Given the description of an element on the screen output the (x, y) to click on. 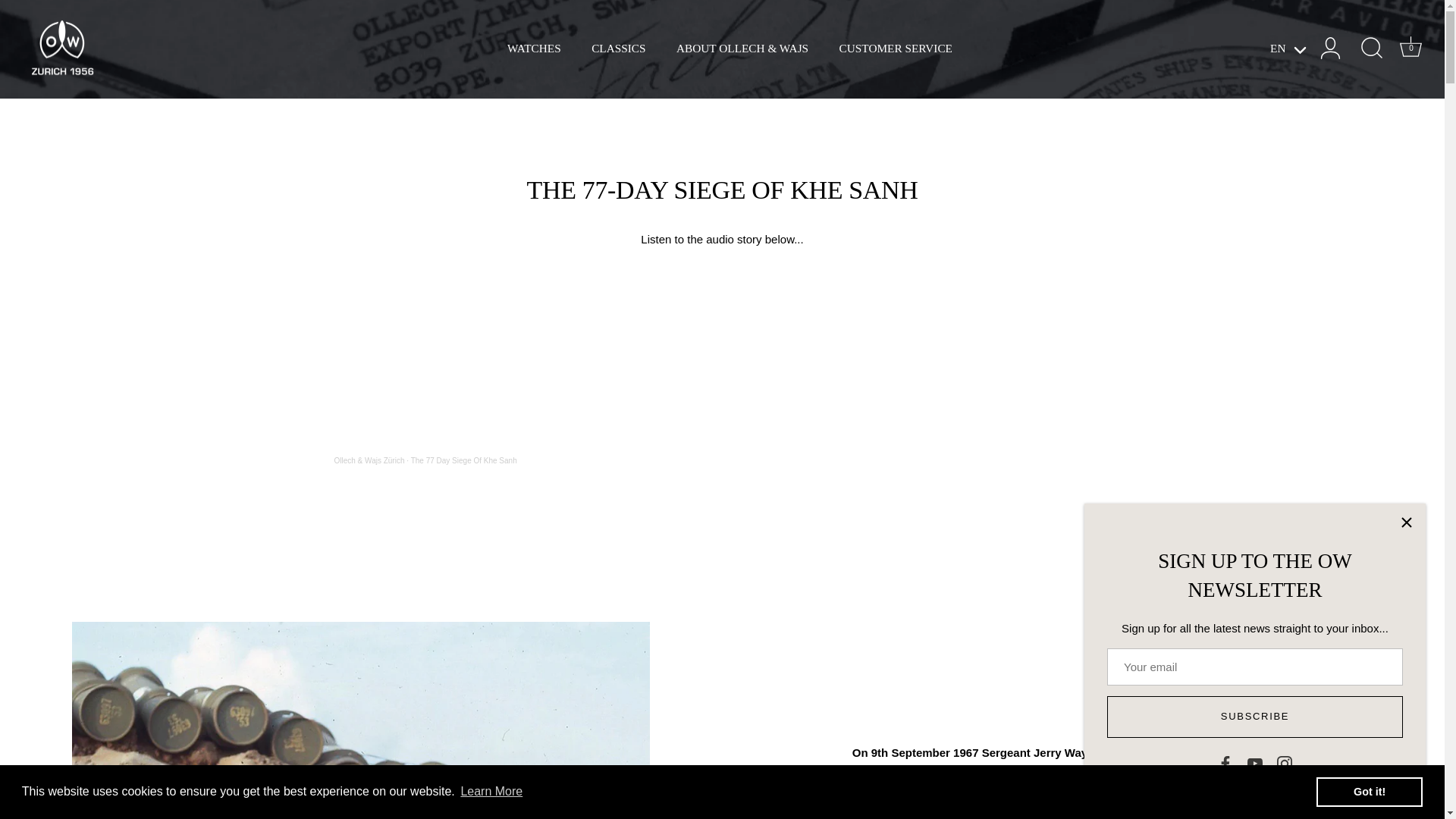
WATCHES (534, 48)
Learn More (491, 791)
EN (1292, 47)
CUSTOMER SERVICE (1411, 48)
Got it! (895, 48)
Youtube (1369, 791)
Instagram (1254, 763)
The 77 Day Siege Of Khe Sanh (1284, 763)
Cart (463, 460)
CLASSICS (1410, 46)
